Given the description of an element on the screen output the (x, y) to click on. 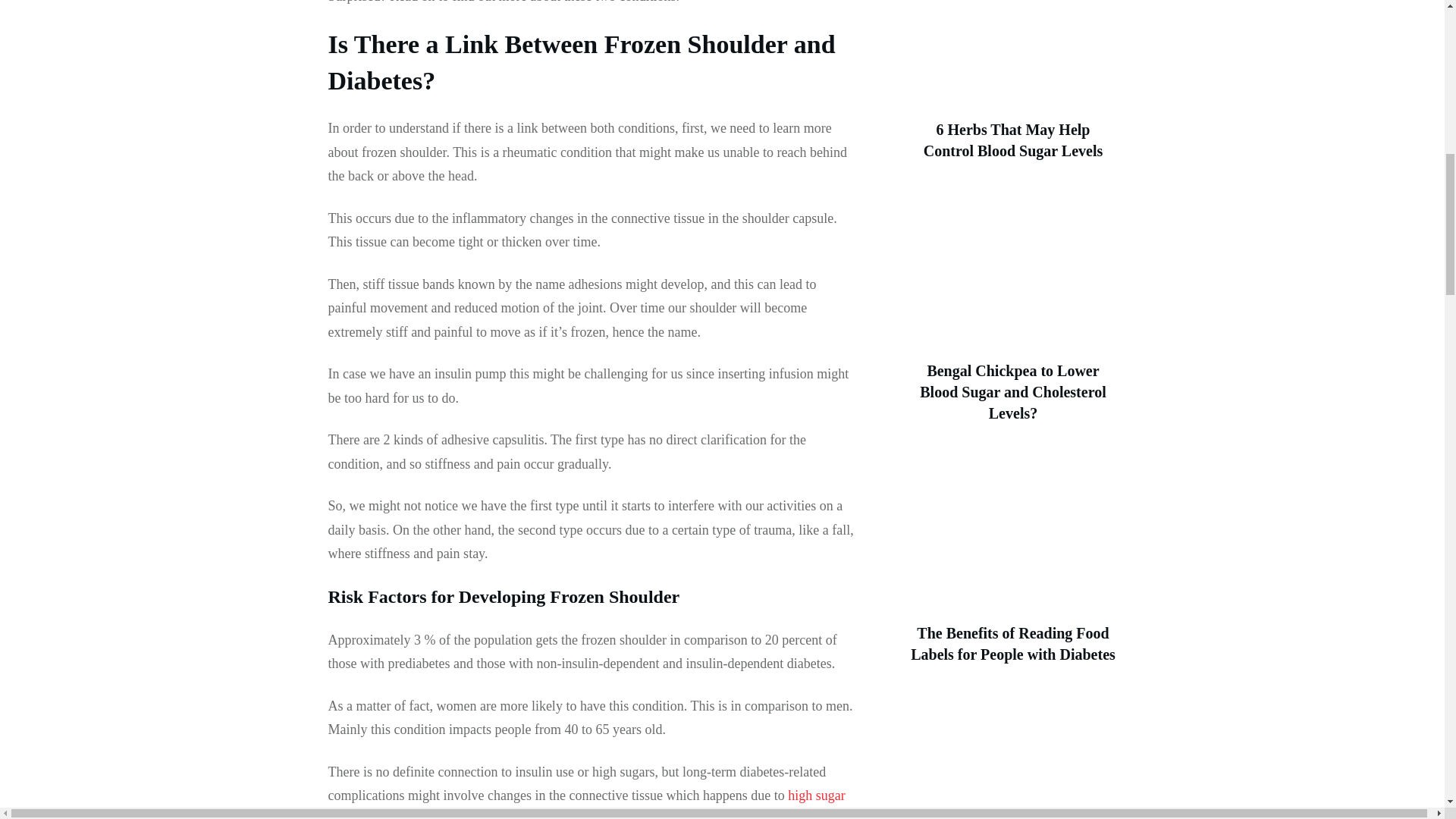
Bengal Chickpea to Lower Blood Sugar and Cholesterol Levels? (1012, 391)
high sugar levels (585, 803)
The Benefits of Reading Food Labels for People with Diabetes (1013, 643)
Bengal Chickpea to Lower Blood Sugar and Cholesterol Levels? (1012, 391)
6 Herbs That May Help Control Blood Sugar Levels (1013, 139)
6 Herbs That May Help Control Blood Sugar Levels (1013, 139)
The Benefits of Reading Food Labels for People with Diabetes (1013, 643)
